Given the description of an element on the screen output the (x, y) to click on. 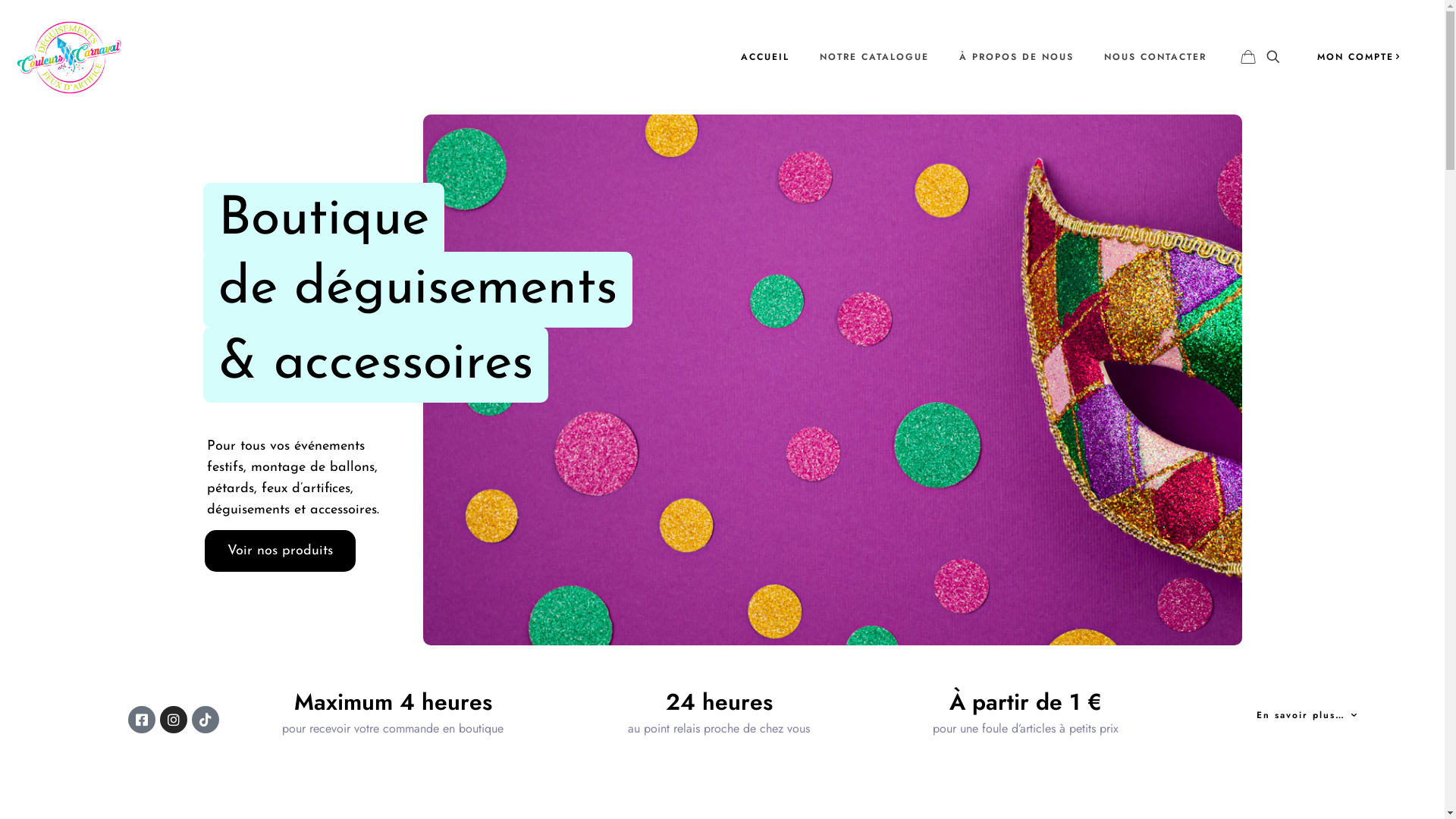
NOTRE CATALOGUE Element type: text (874, 56)
NOUS CONTACTER Element type: text (1154, 56)
MON COMPTE Element type: text (1359, 56)
Voir nos produits Element type: text (279, 550)
Couleurs Carnival Element type: hover (69, 56)
ACCUEIL Element type: text (764, 56)
